Given the description of an element on the screen output the (x, y) to click on. 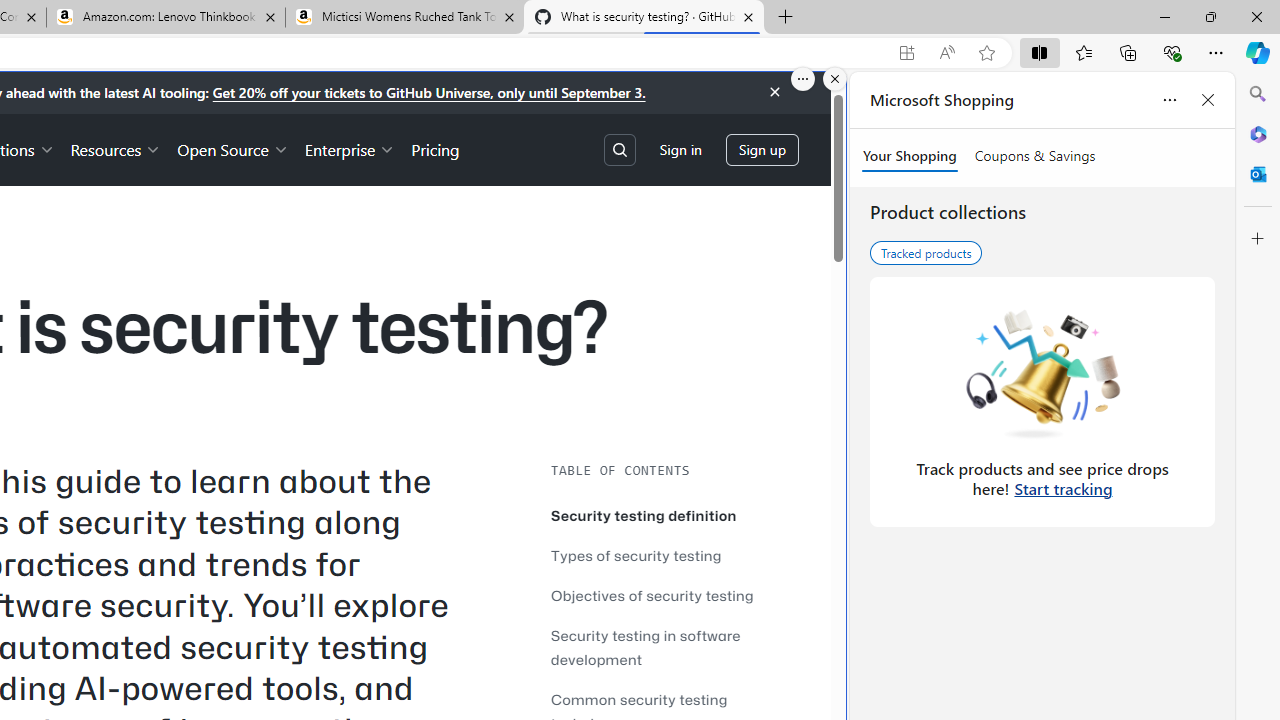
Security testing definition (643, 515)
Open Source (232, 148)
App available. Install GitHub (906, 53)
Security testing definition (670, 515)
More options. (803, 79)
Objectives of security testing (670, 595)
